Given the description of an element on the screen output the (x, y) to click on. 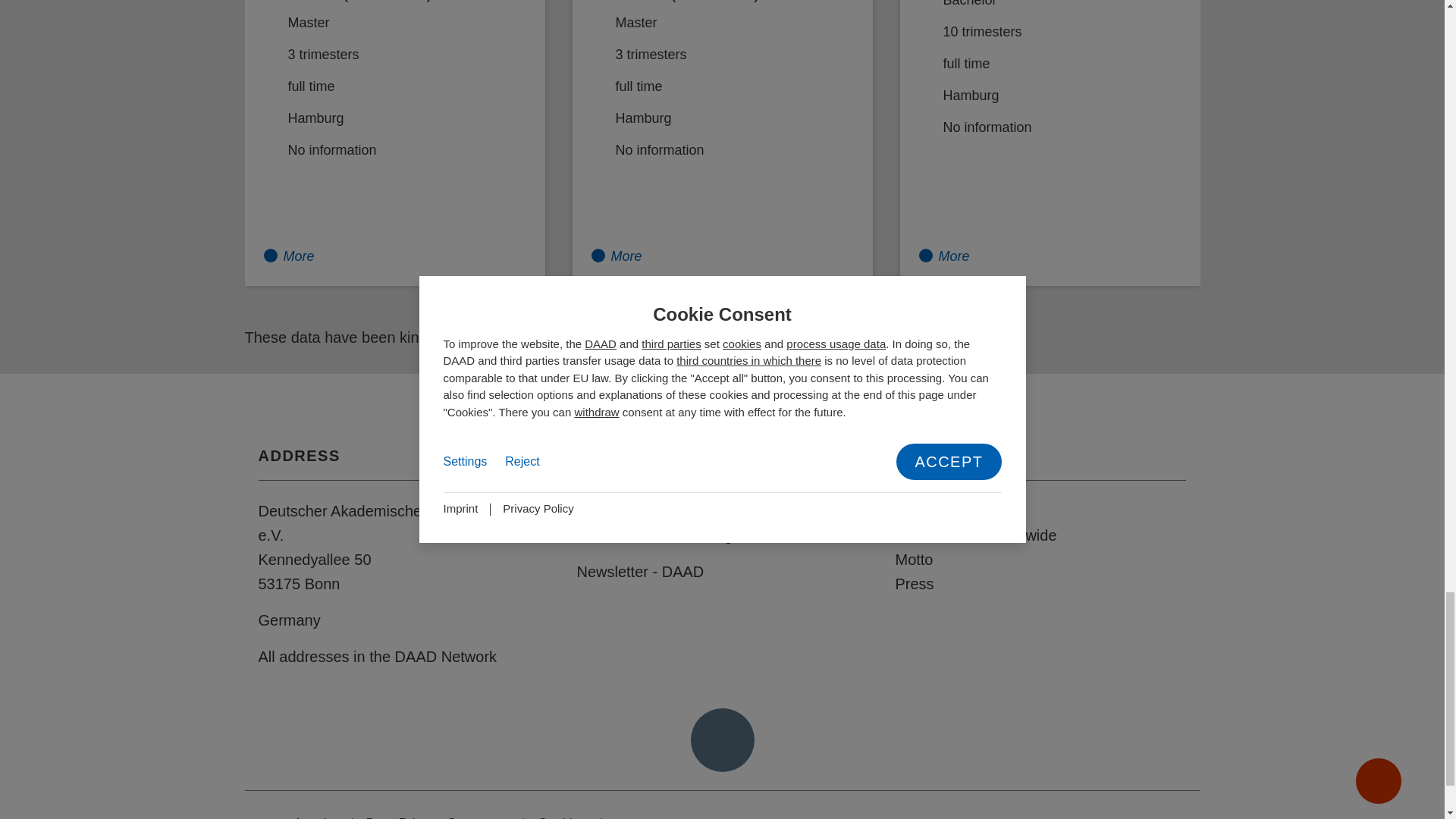
Page opens in new window (1108, 815)
Page opens in new window (1163, 815)
Page opens in new window (1080, 815)
Page opens in new window (1053, 815)
Page opens in new window (1135, 815)
Page opens in new window (1189, 815)
